Given the description of an element on the screen output the (x, y) to click on. 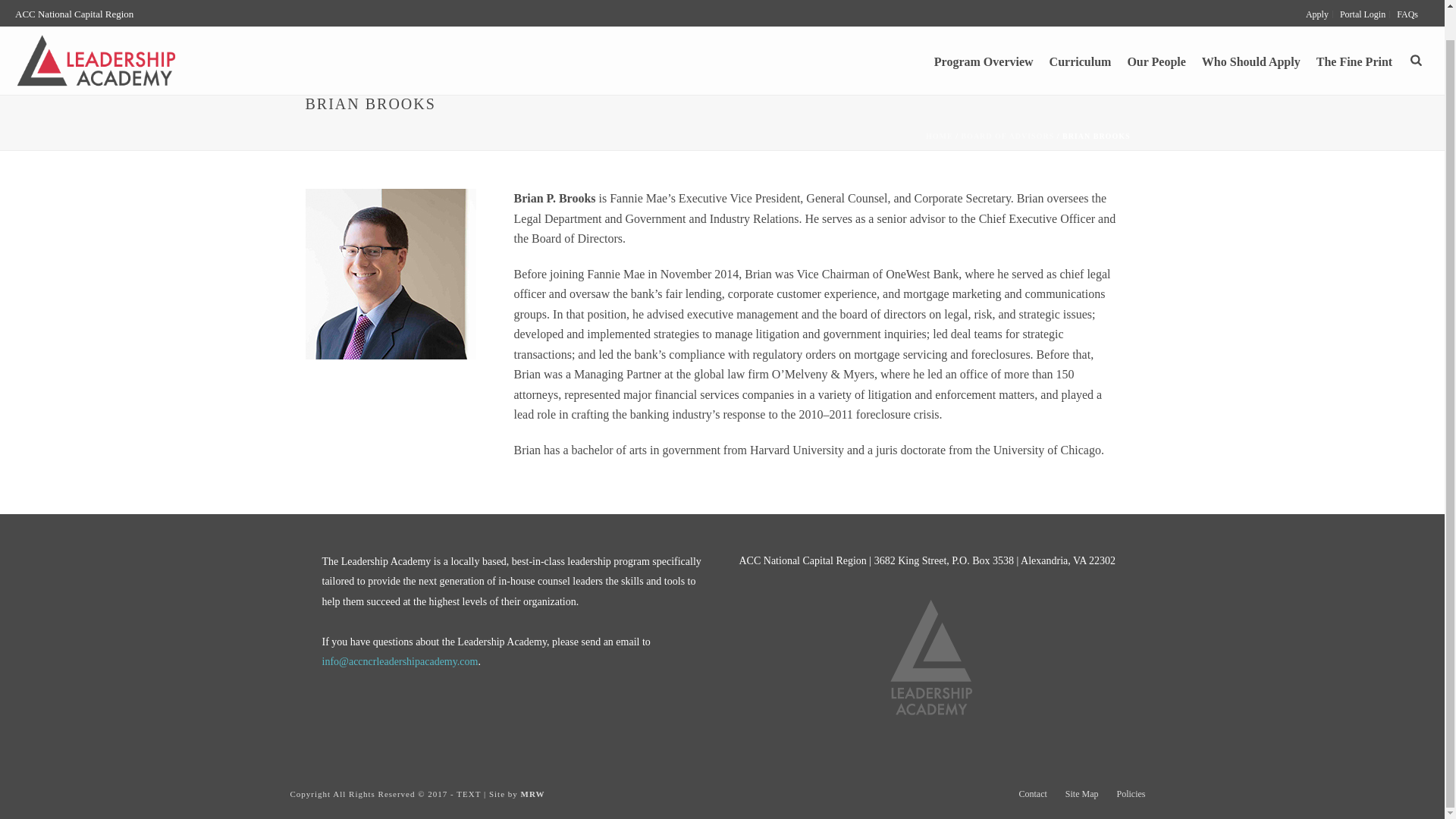
Program Overview (983, 31)
Who Should Apply (1250, 31)
The Fine Print (1353, 31)
MRW (532, 793)
Site Map (1082, 793)
Turning great lawyers into great leaders. (95, 31)
Curriculum (1080, 31)
Contact (1032, 793)
Curriculum (1080, 31)
Our People (1155, 31)
brian brooks (390, 274)
Policies (1130, 793)
HOME (939, 135)
The Fine Print (1353, 31)
Our People (1155, 31)
